Given the description of an element on the screen output the (x, y) to click on. 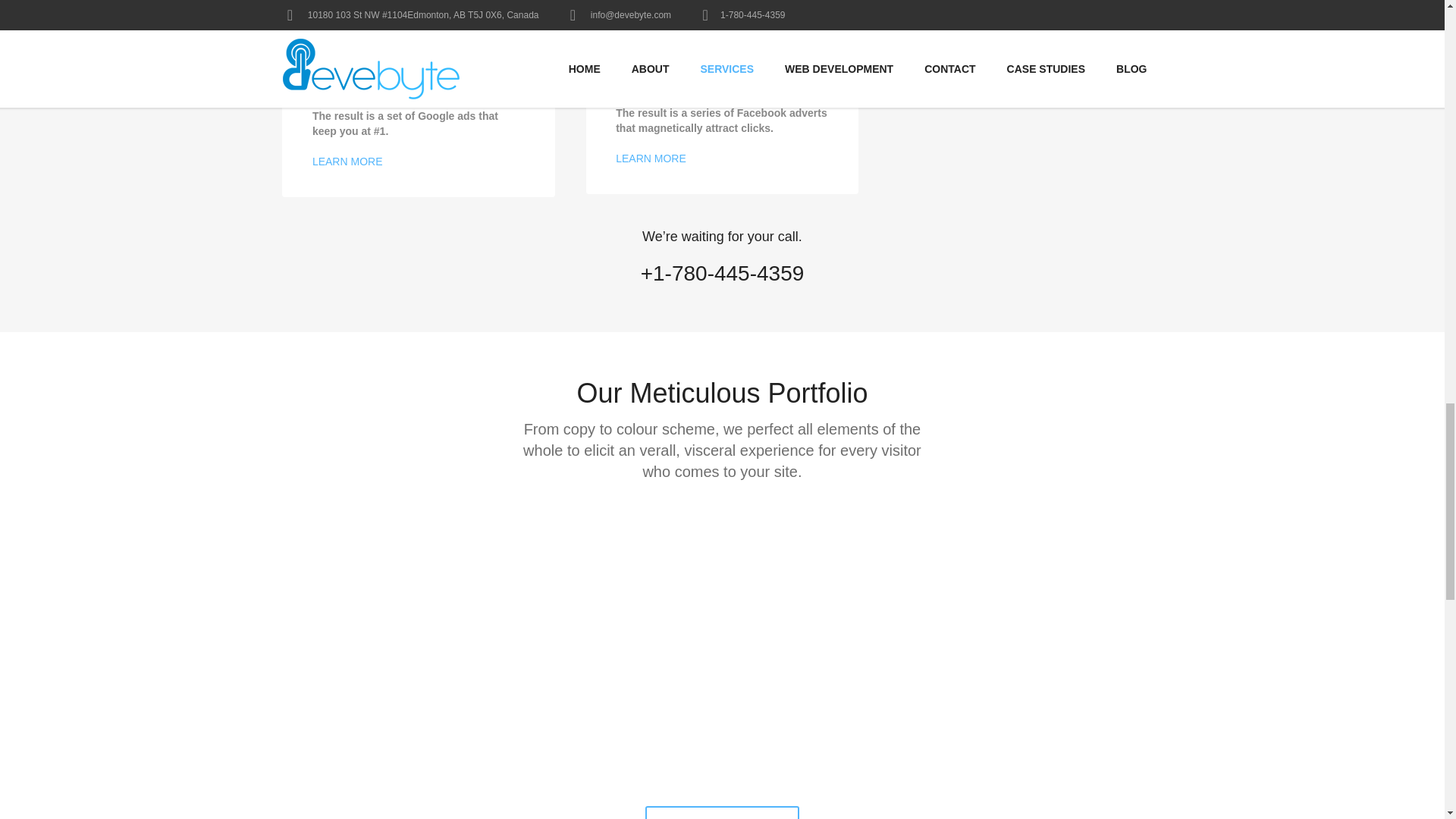
LEARN MORE (650, 158)
VIEW MORE WORKS (721, 812)
LEARN MORE (347, 161)
